Given the description of an element on the screen output the (x, y) to click on. 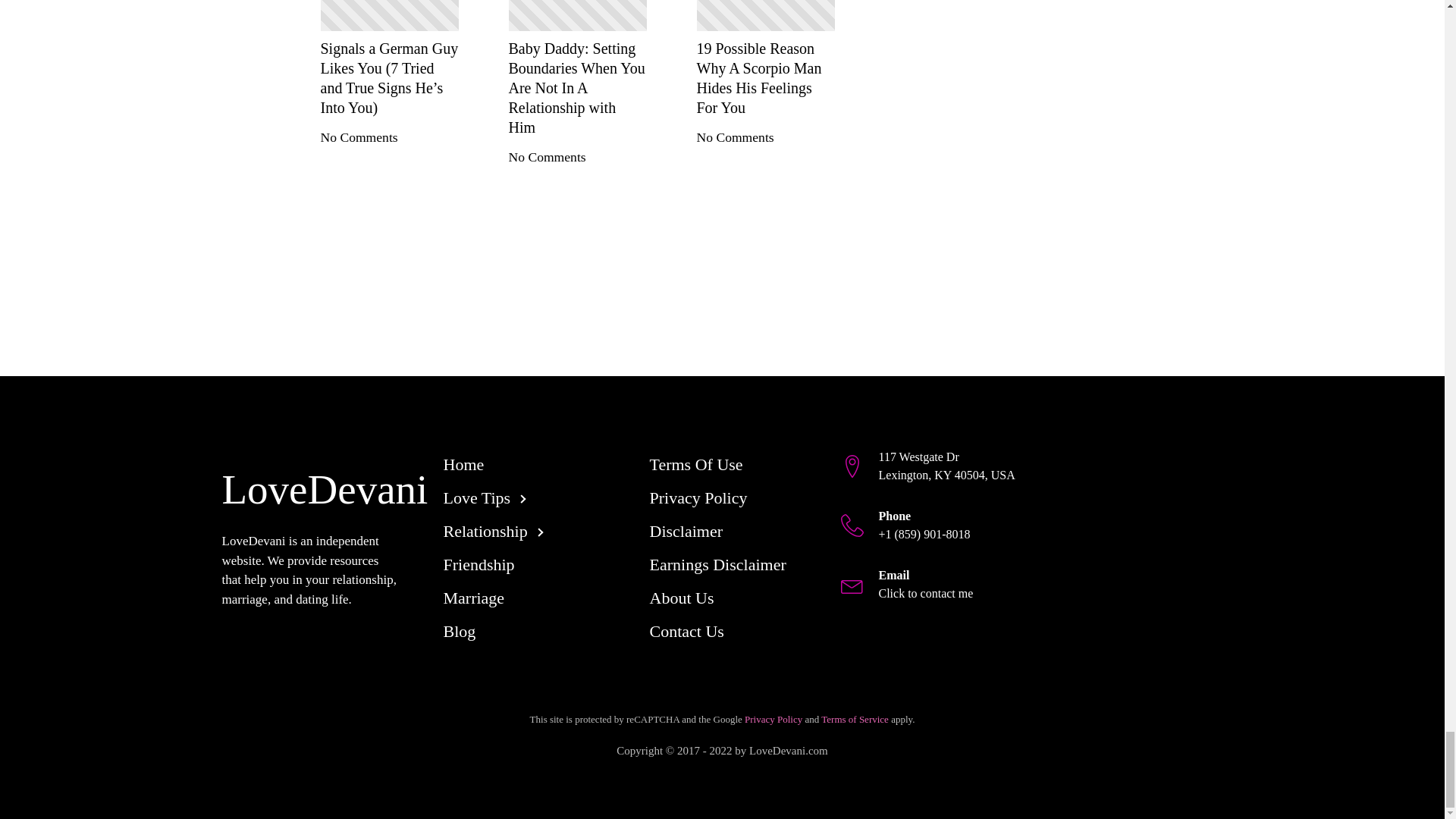
No Comments (358, 136)
No Comments (546, 156)
No Comments (734, 136)
